Given the description of an element on the screen output the (x, y) to click on. 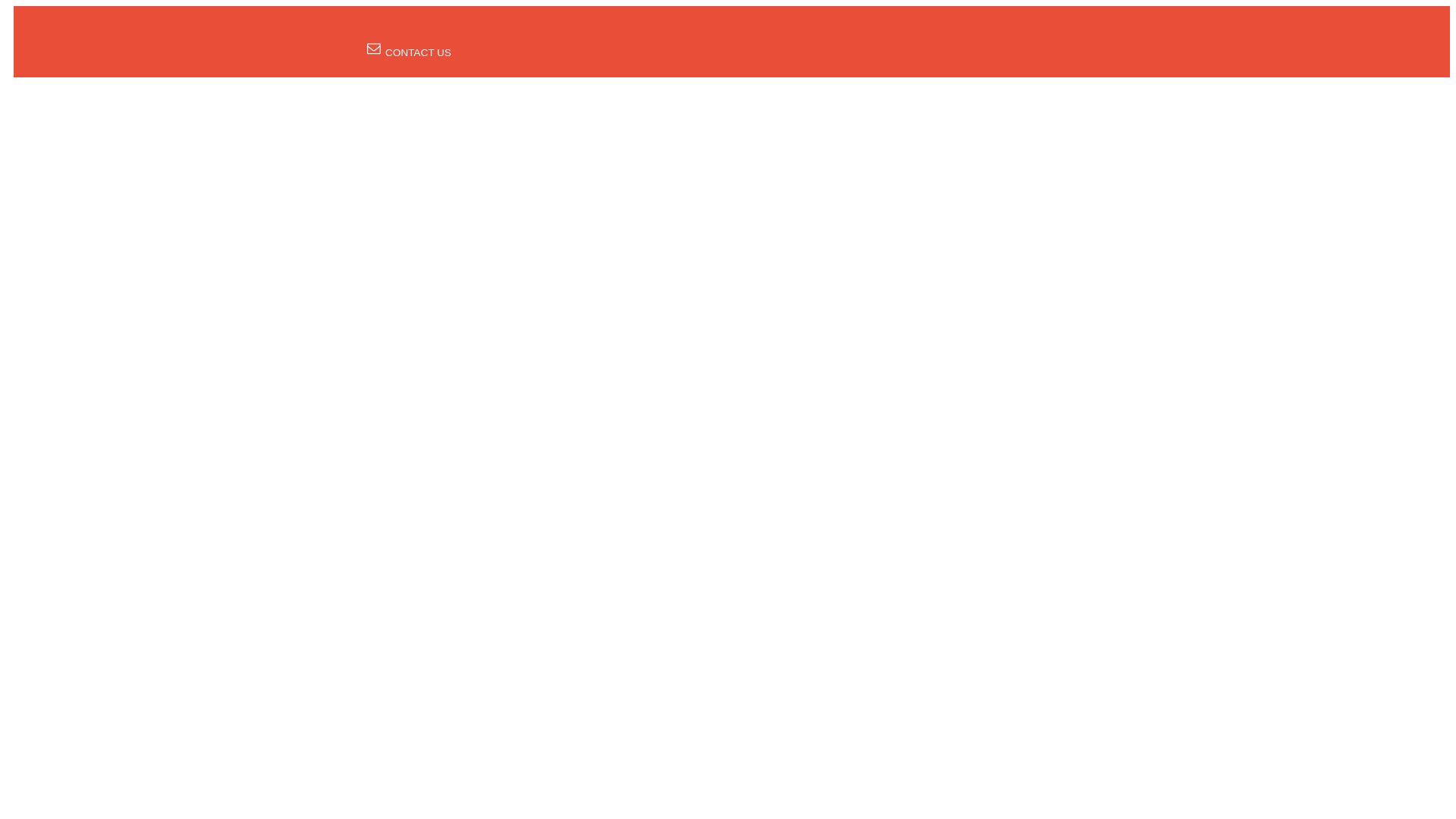
HOME (419, 30)
SEARCH BY PIN CODE (511, 30)
RECENTLY SEARCHED LOCATIONS (676, 30)
CONTACT US (408, 51)
